Given the description of an element on the screen output the (x, y) to click on. 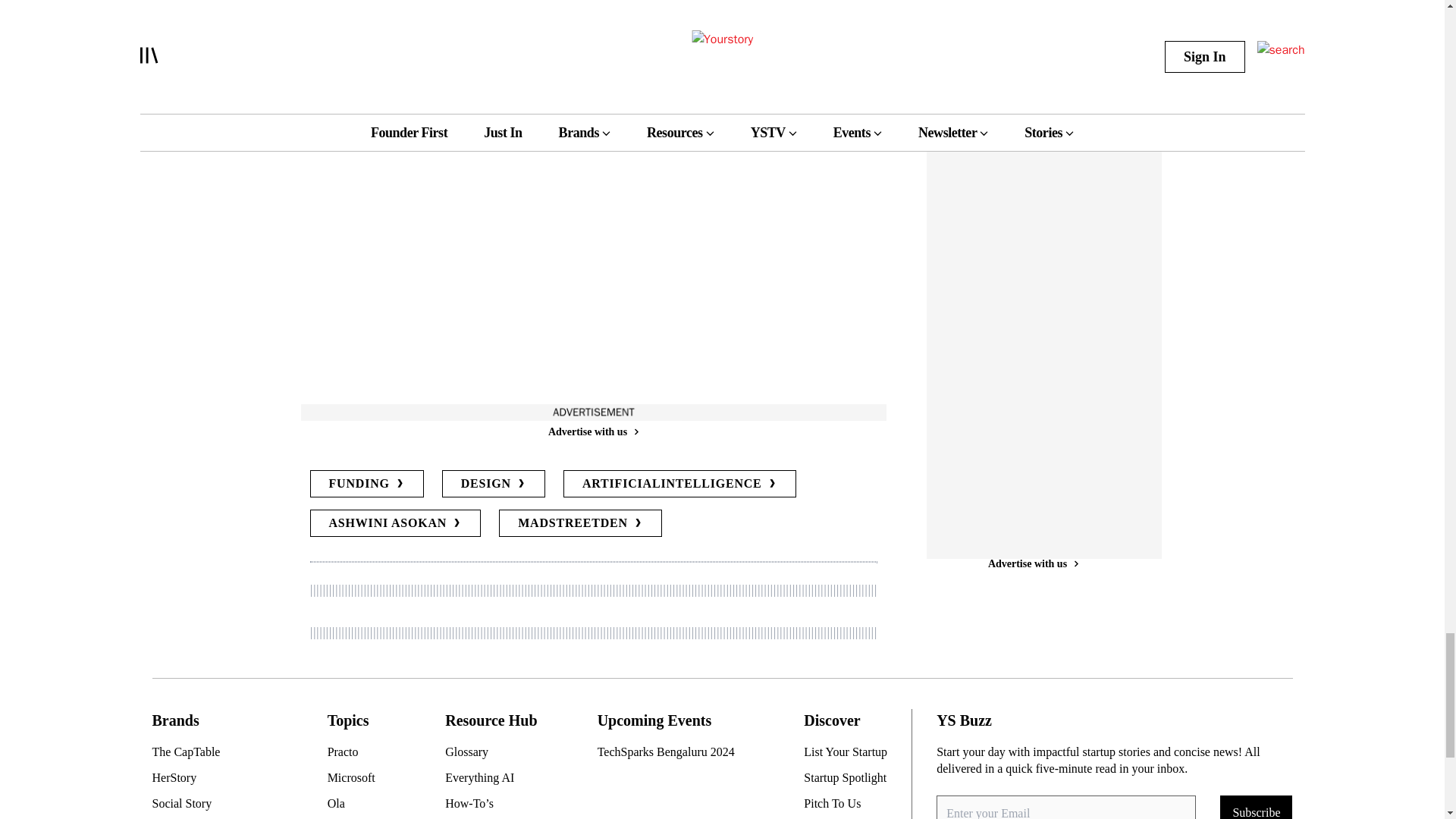
FUNDING (365, 483)
Advertise with us (592, 431)
ARTIFICIALINTELLIGENCE (679, 483)
launched in August 2014 (624, 12)
ASHWINI ASOKAN (394, 523)
MADSTREETDEN (580, 523)
DESIGN (493, 483)
